Given the description of an element on the screen output the (x, y) to click on. 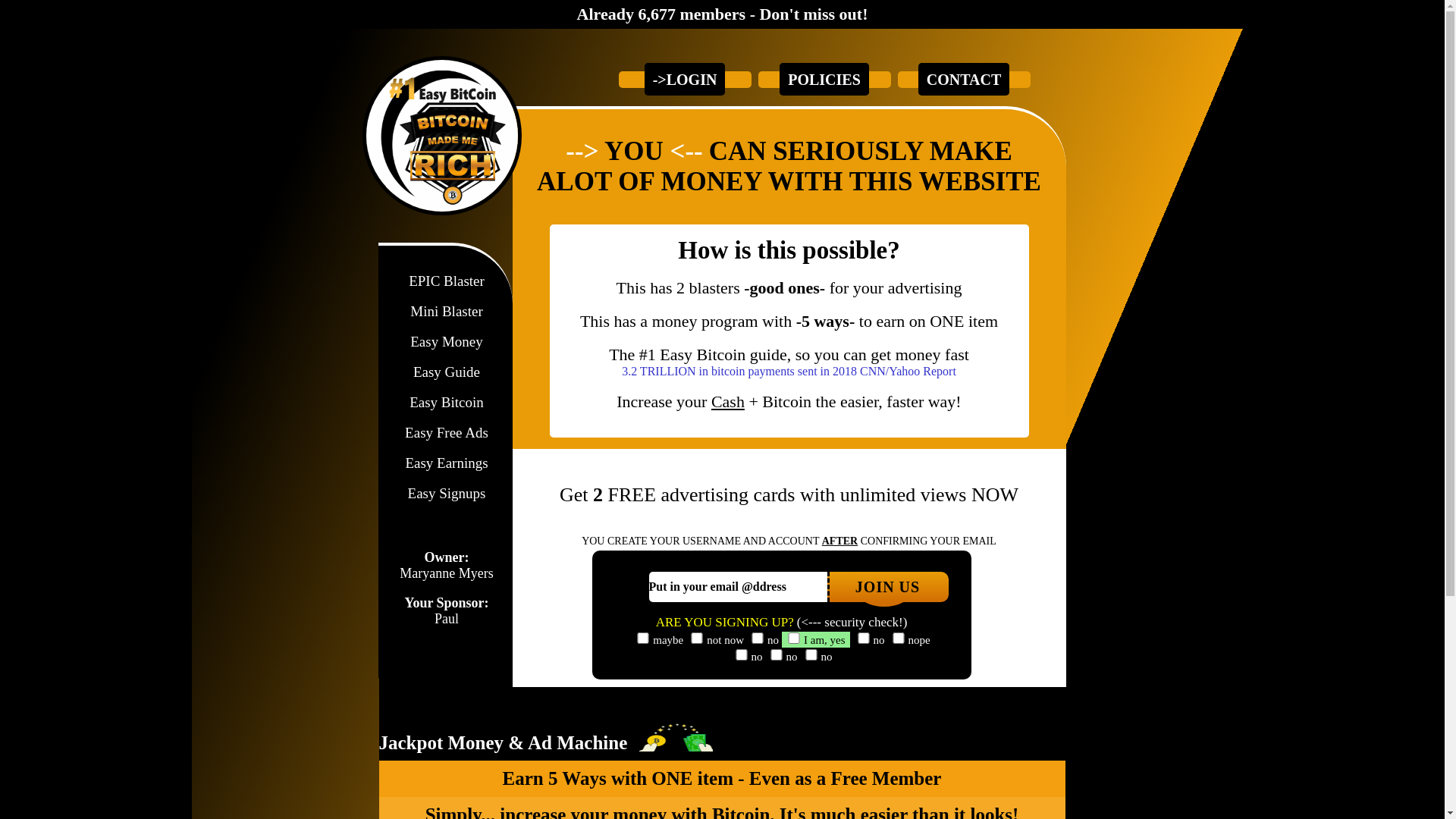
CONTACT Element type: text (964, 78)
->LOGIN Element type: text (684, 78)
POLICIES Element type: text (824, 78)
